Given the description of an element on the screen output the (x, y) to click on. 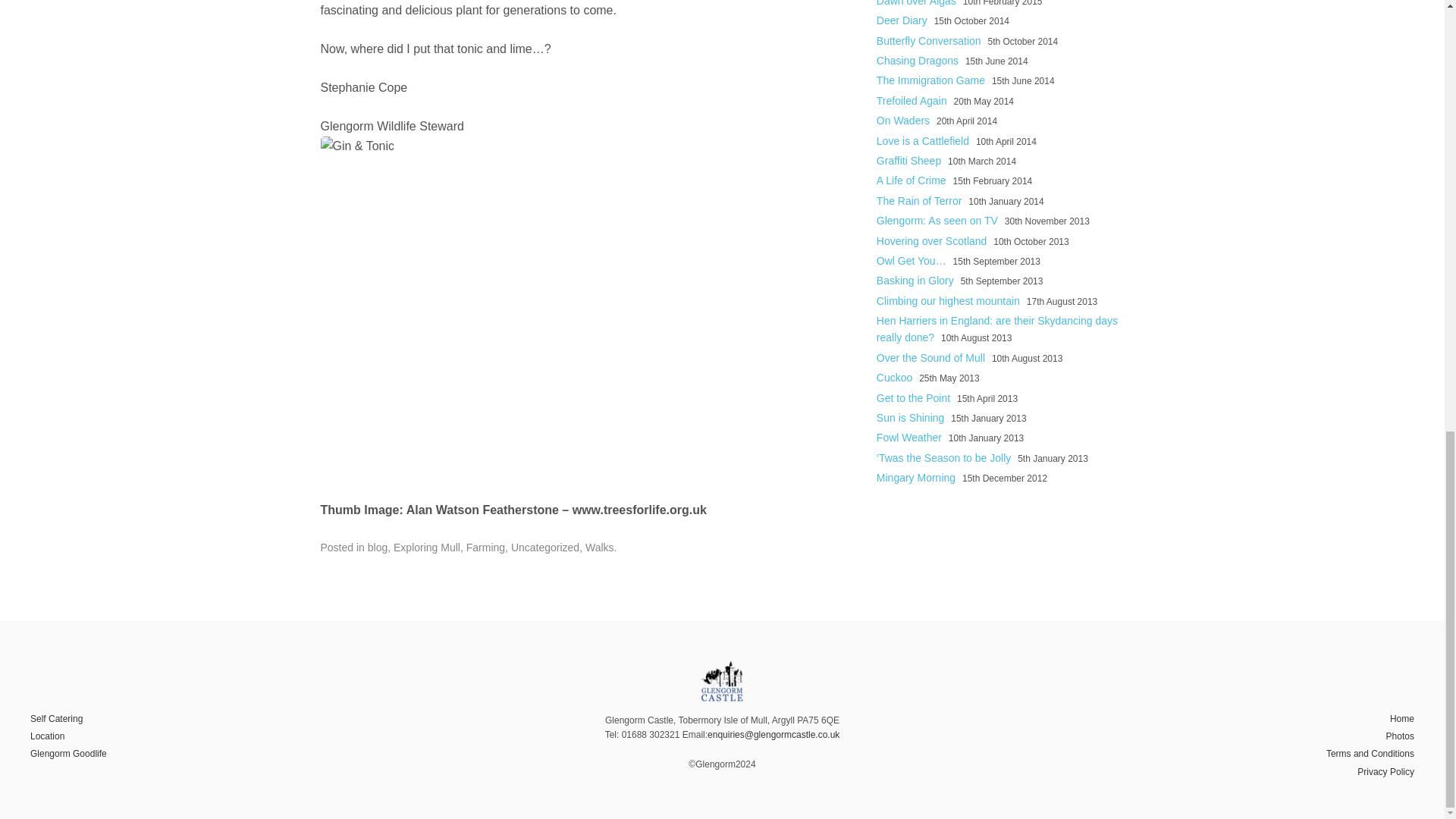
Walks (599, 547)
Uncategorized (545, 547)
Farming (485, 547)
Exploring Mull (426, 547)
blog (377, 547)
